Given the description of an element on the screen output the (x, y) to click on. 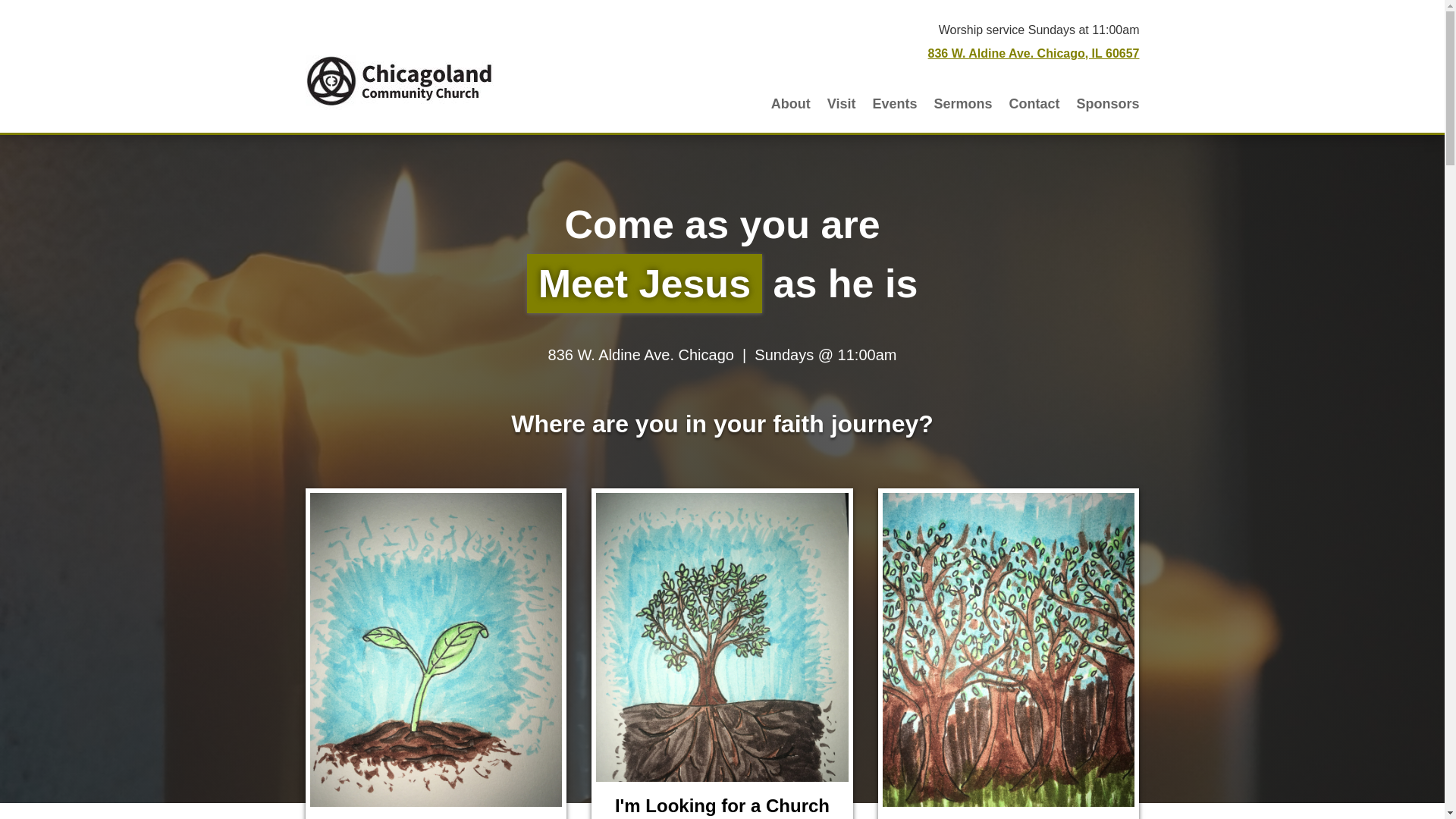
About (790, 103)
Sermons (962, 103)
Visit (841, 103)
Events (894, 103)
Contact (1034, 103)
Sponsors (1106, 103)
836 W. Aldine Ave. Chicago, IL 60657 (1034, 52)
